Given the description of an element on the screen output the (x, y) to click on. 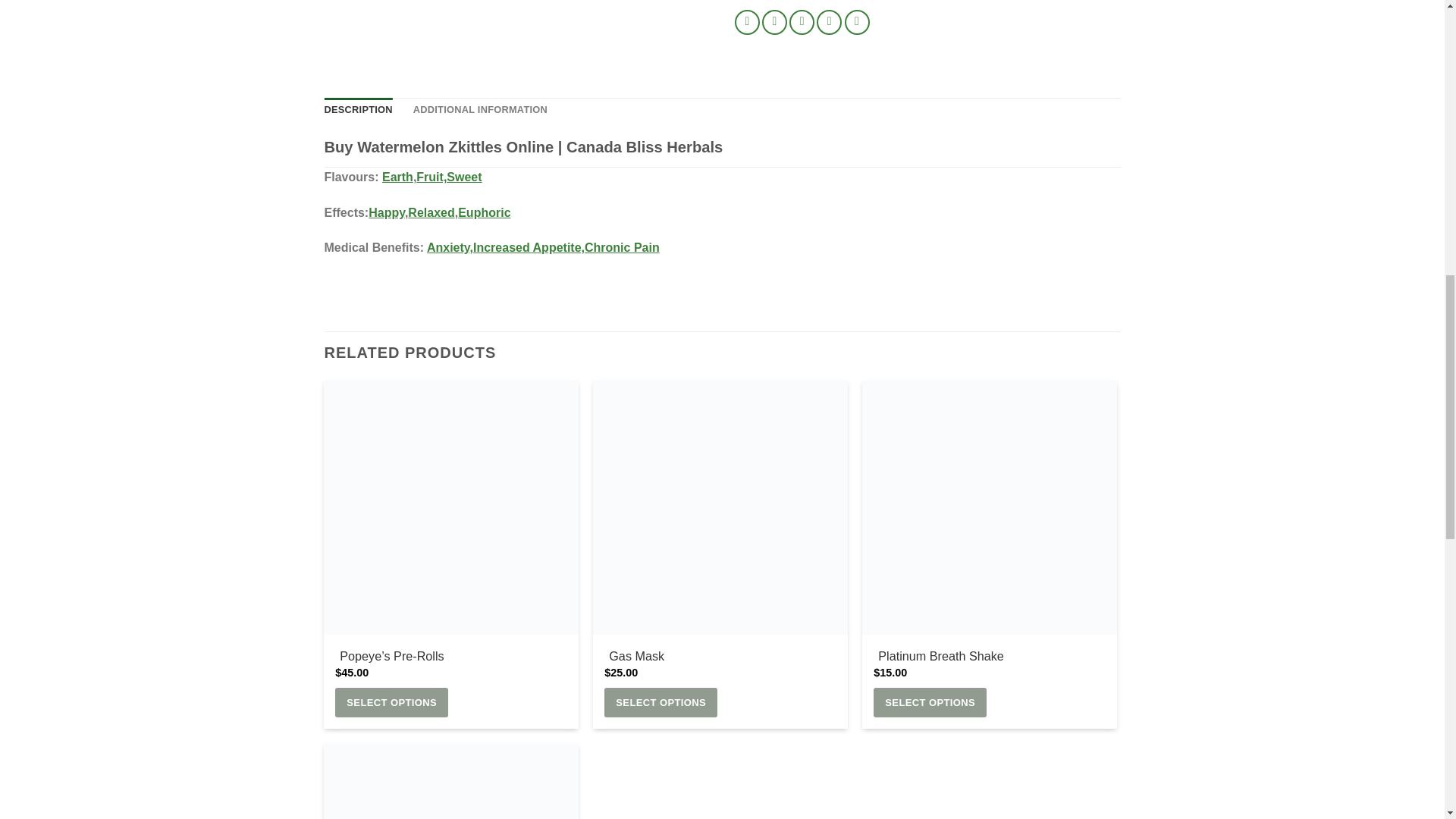
Pin on Pinterest (828, 22)
Email to a Friend (801, 22)
Share on Facebook (747, 22)
Share on LinkedIn (856, 22)
Share on Twitter (774, 22)
